Given the description of an element on the screen output the (x, y) to click on. 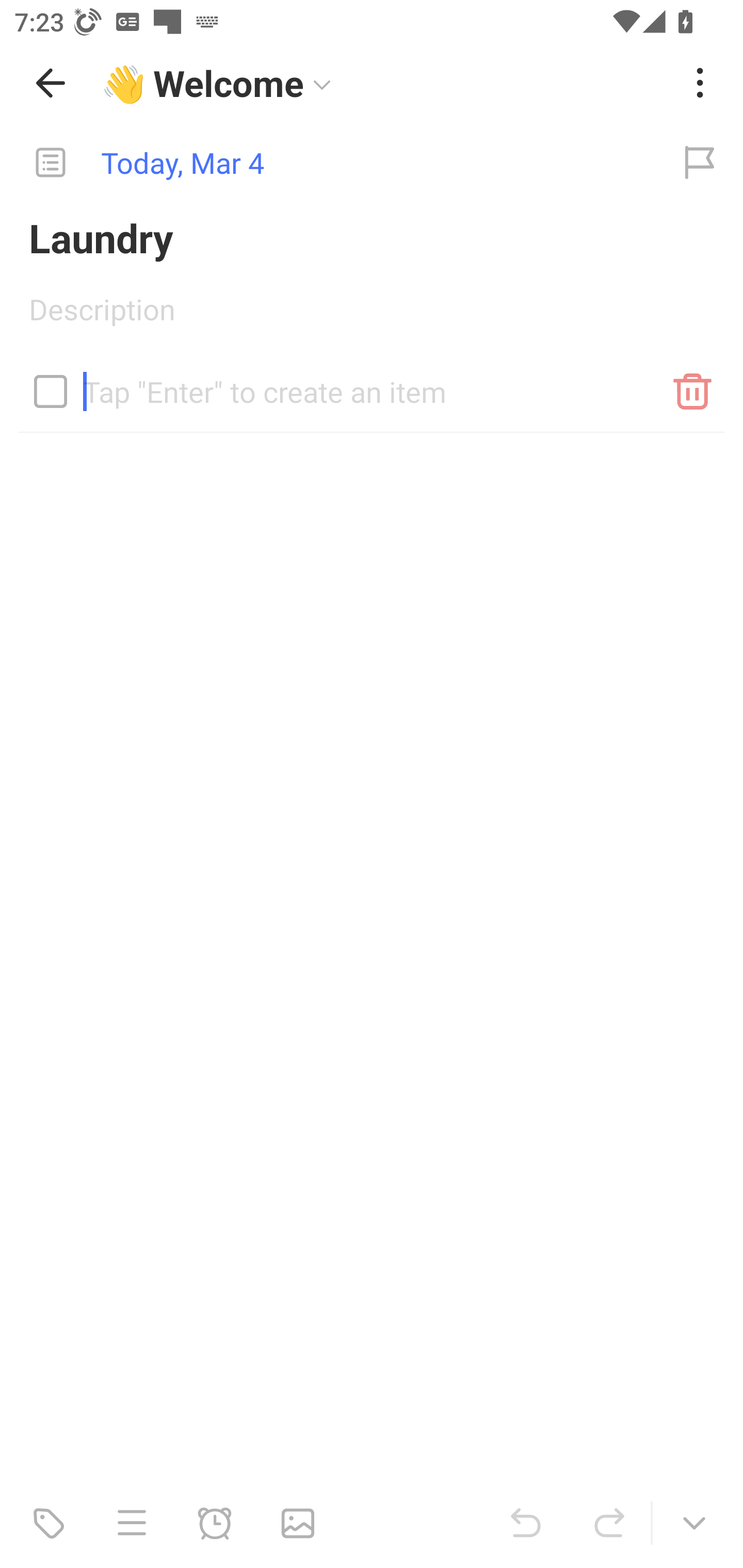
👋 Welcome (384, 82)
Today, Mar 4  (328, 163)
Laundry (371, 237)
Description (371, 315)
  (50, 390)
Tap "Enter" to create an item (371, 383)
